Given the description of an element on the screen output the (x, y) to click on. 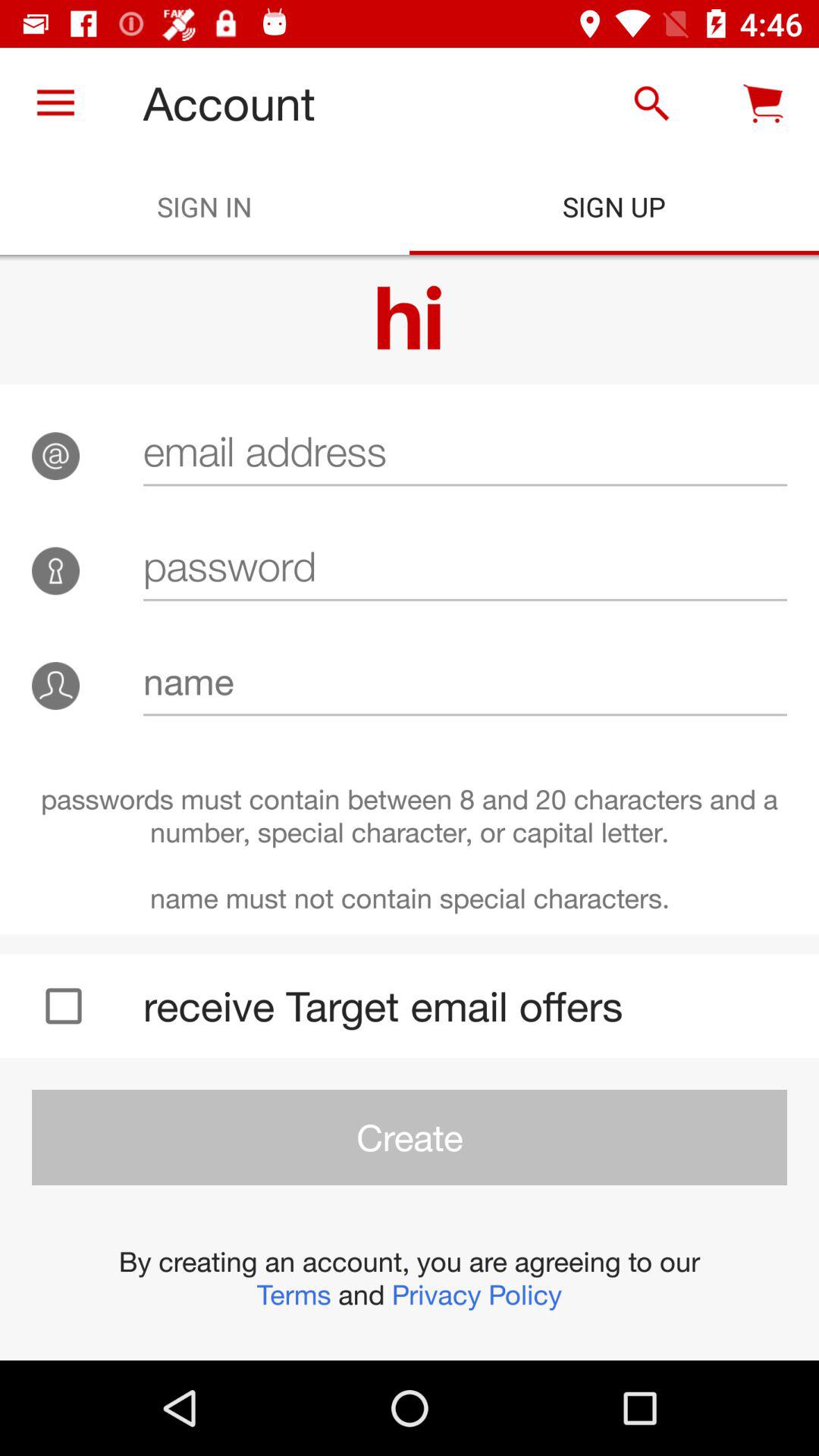
turn off icon to the right of account icon (651, 103)
